Given the description of an element on the screen output the (x, y) to click on. 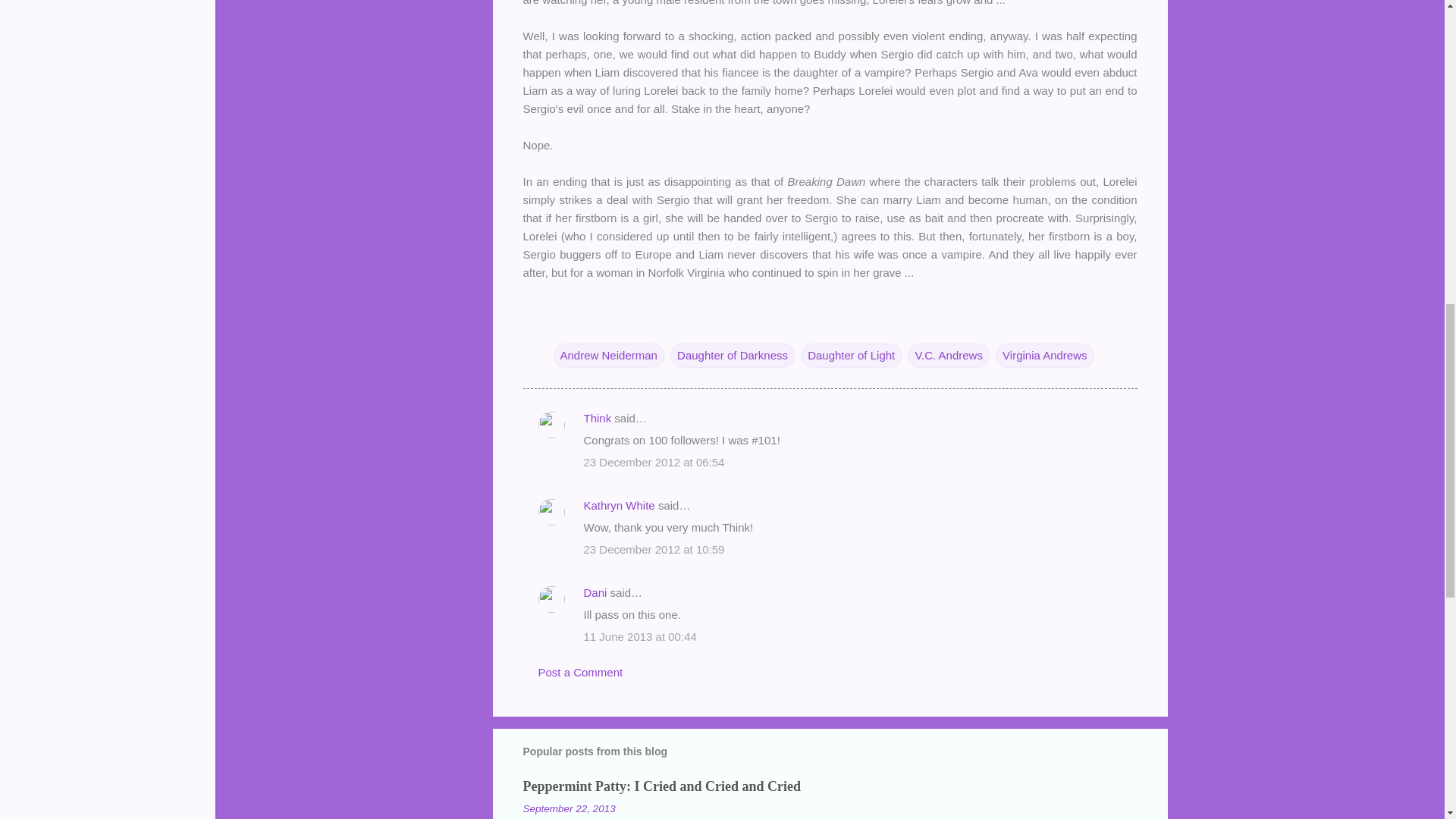
Email Post (562, 324)
Daughter of Light (850, 354)
11 June 2013 at 00:44 (640, 635)
comment permalink (654, 461)
Think (597, 418)
V.C. Andrews (948, 354)
Daughter of Darkness (731, 354)
Kathryn White (619, 504)
Post a Comment (580, 671)
September 22, 2013 (568, 808)
